Given the description of an element on the screen output the (x, y) to click on. 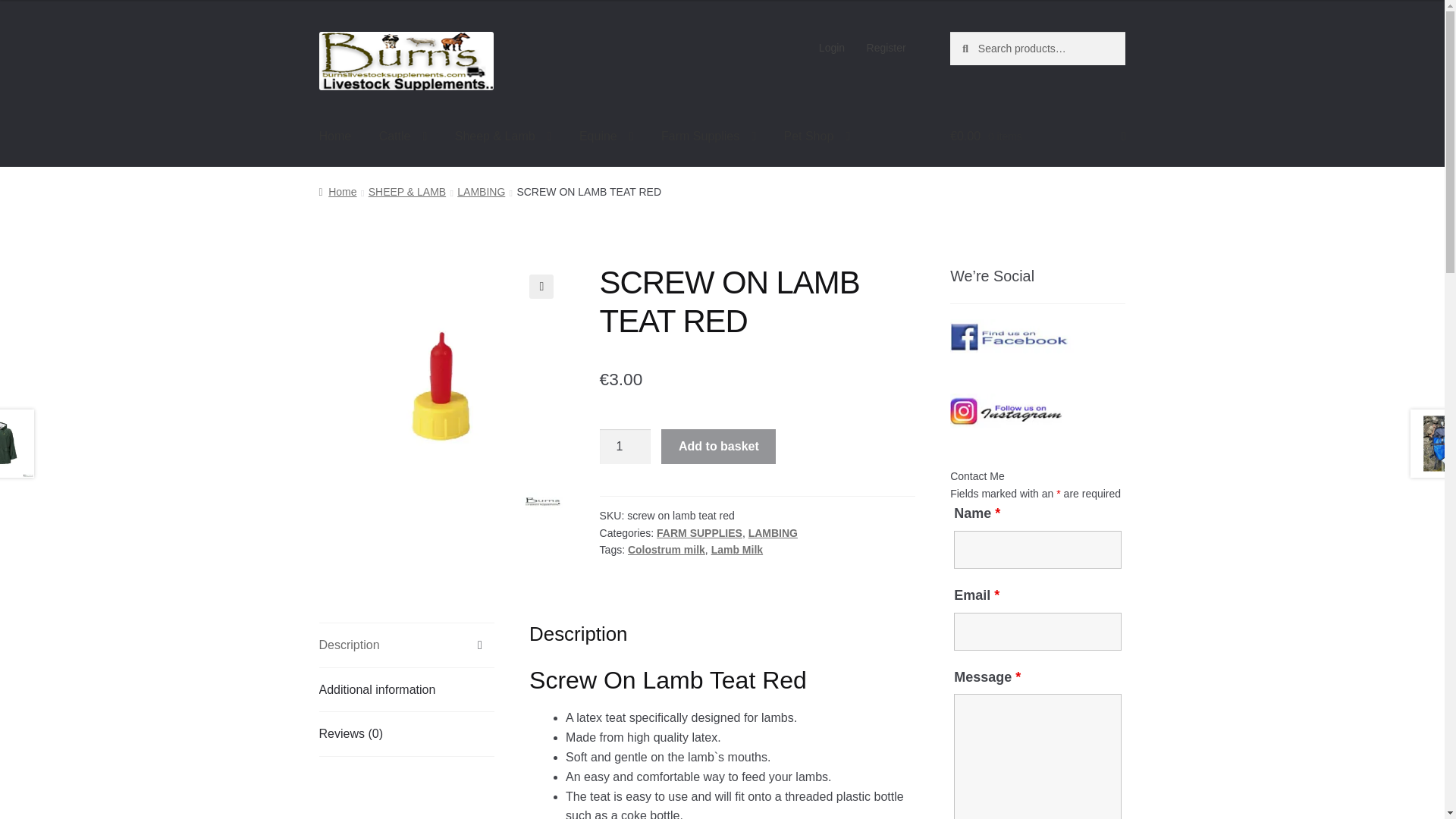
Cattle (402, 136)
View your shopping basket (1037, 136)
Screw-on-lamb-teat-for-sale-Ireland (441, 386)
Home (335, 136)
1 (624, 446)
Register (886, 47)
Login (831, 47)
